Given the description of an element on the screen output the (x, y) to click on. 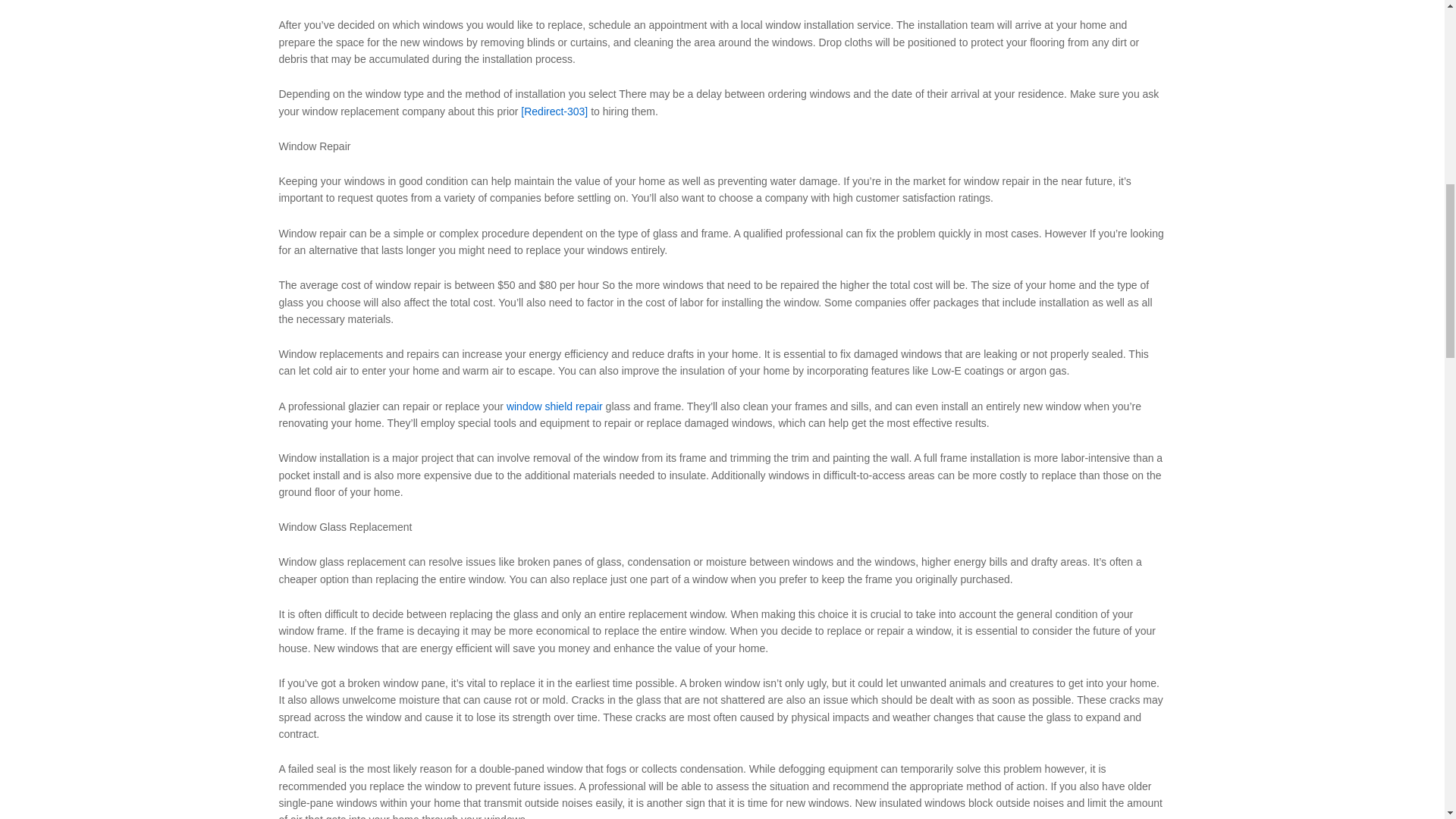
window shield repair (554, 406)
